Given the description of an element on the screen output the (x, y) to click on. 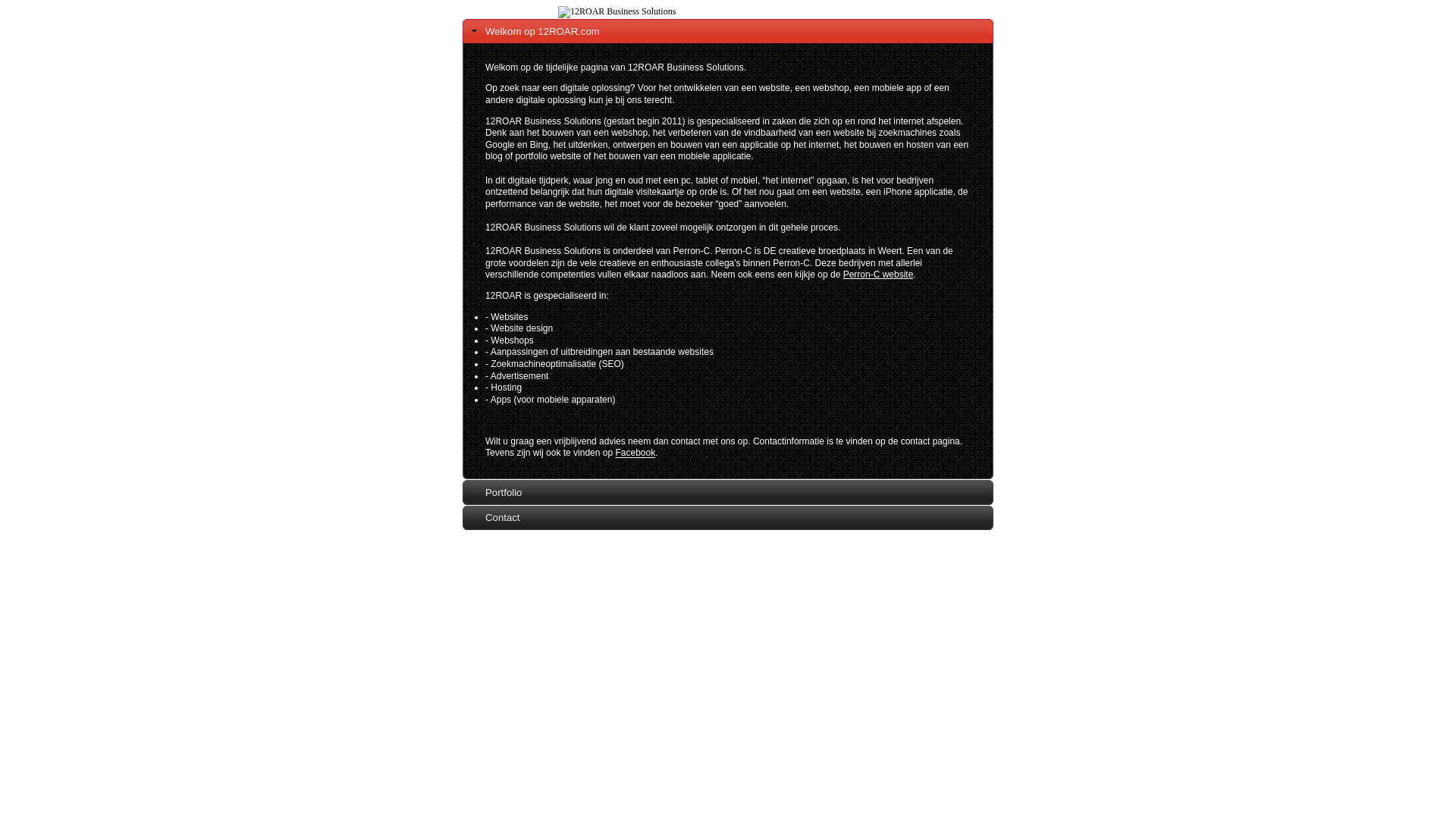
Facebook Element type: text (635, 452)
Welkom op 12ROAR.com Element type: text (727, 30)
Perron-C website Element type: text (878, 274)
Contact Element type: text (727, 517)
12ROAR Business Solutions Element type: hover (616, 12)
Portfolio Element type: text (727, 491)
